Given the description of an element on the screen output the (x, y) to click on. 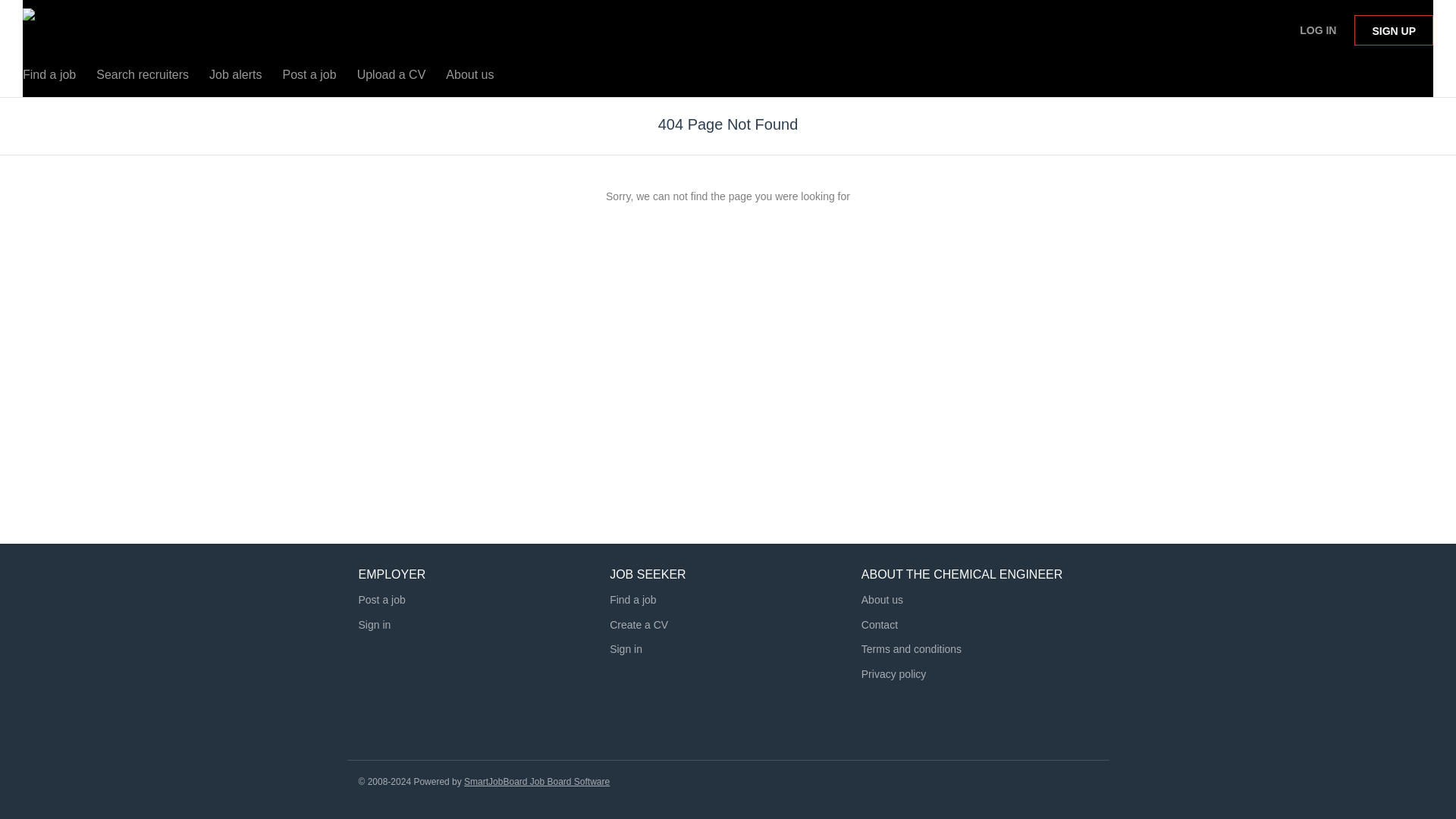
SmartJobBoard Job Board Software (537, 781)
Upload a CV (391, 78)
Find a job (48, 78)
Post a job (309, 78)
Job alerts (235, 78)
Job Board Software, Script (537, 781)
Terms and conditions (910, 648)
Sign in (374, 624)
Privacy policy (893, 682)
About us (469, 78)
LOG IN (1317, 30)
Create a CV (639, 624)
Sign in (626, 648)
SIGN UP (1393, 30)
Post a job (381, 599)
